Given the description of an element on the screen output the (x, y) to click on. 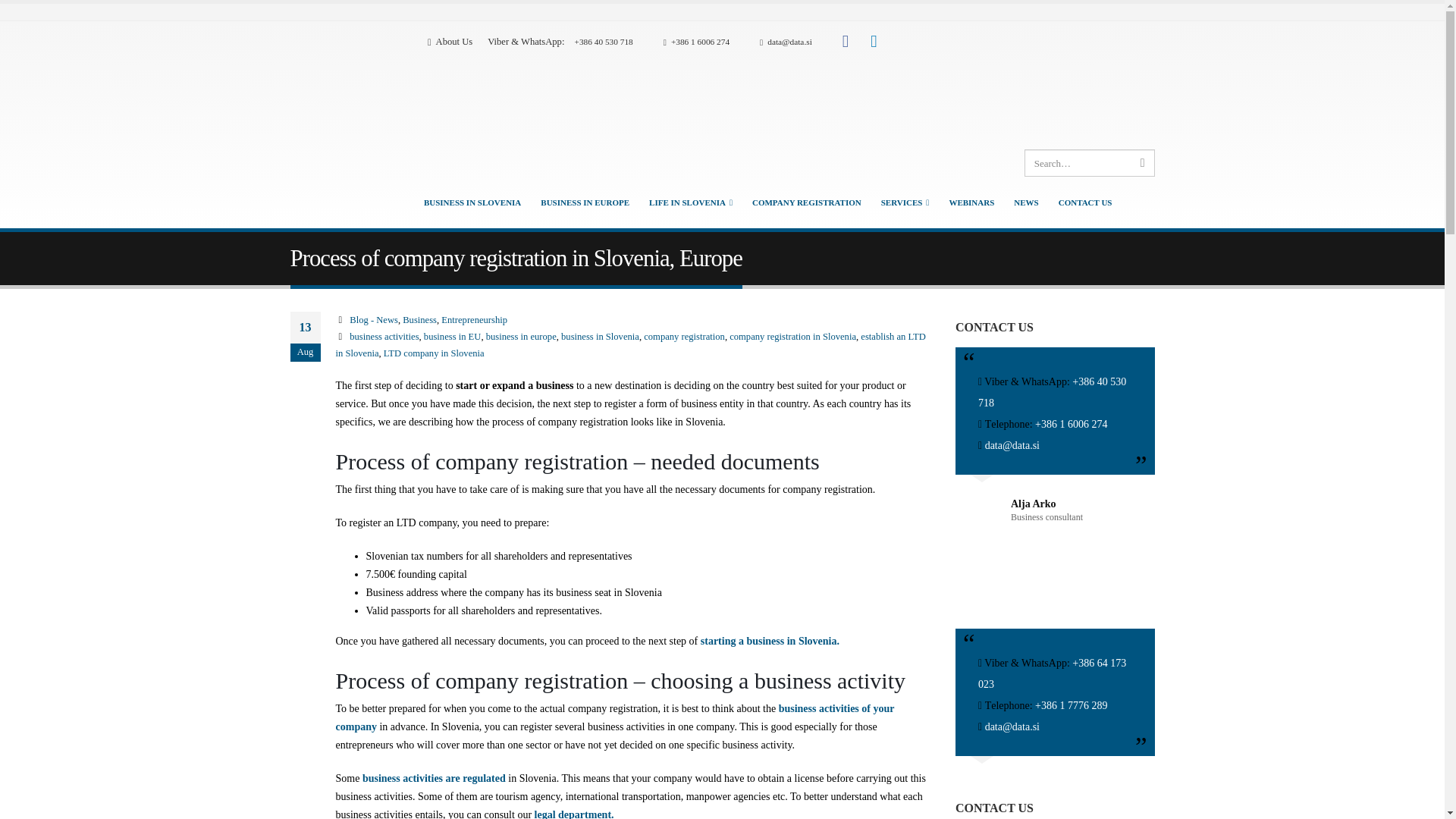
Website data.si in Slovenian language (1025, 88)
BUSINESS IN EUROPE (585, 202)
Business Agency Data (450, 41)
About Us (450, 41)
LIFE IN SLOVENIA (690, 202)
COMPANY REGISTRATION (806, 202)
BUSINESS IN SLOVENIA (471, 202)
WEBINARS (971, 202)
Data d.o.o. -  (314, 124)
NEWS (1025, 202)
CONTACT US (1085, 202)
SERVICES (905, 202)
